Given the description of an element on the screen output the (x, y) to click on. 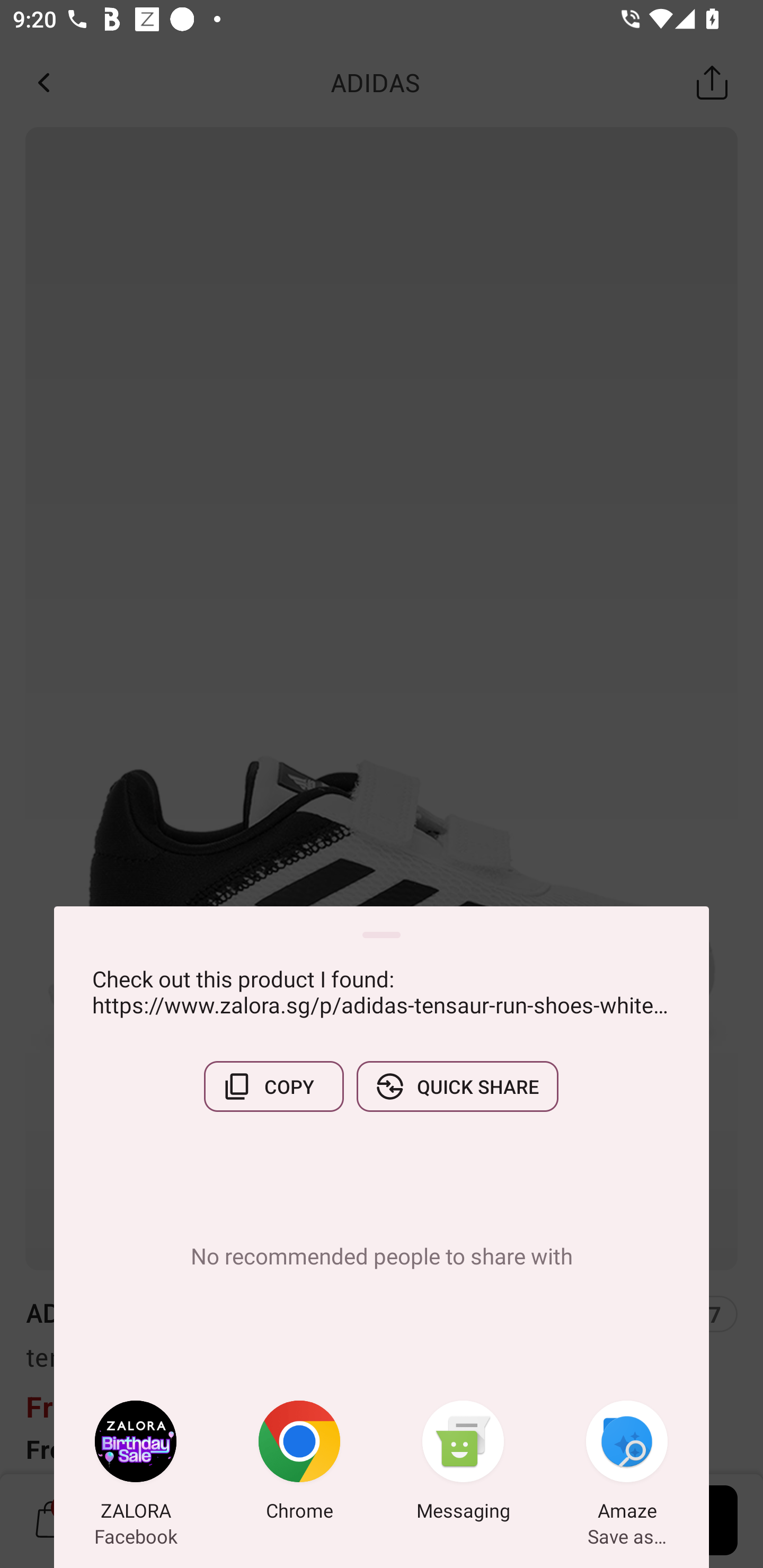
COPY (273, 1086)
QUICK SHARE (457, 1086)
ZALORA Facebook (135, 1463)
Chrome (299, 1463)
Messaging (463, 1463)
Amaze Save as… (626, 1463)
